Given the description of an element on the screen output the (x, y) to click on. 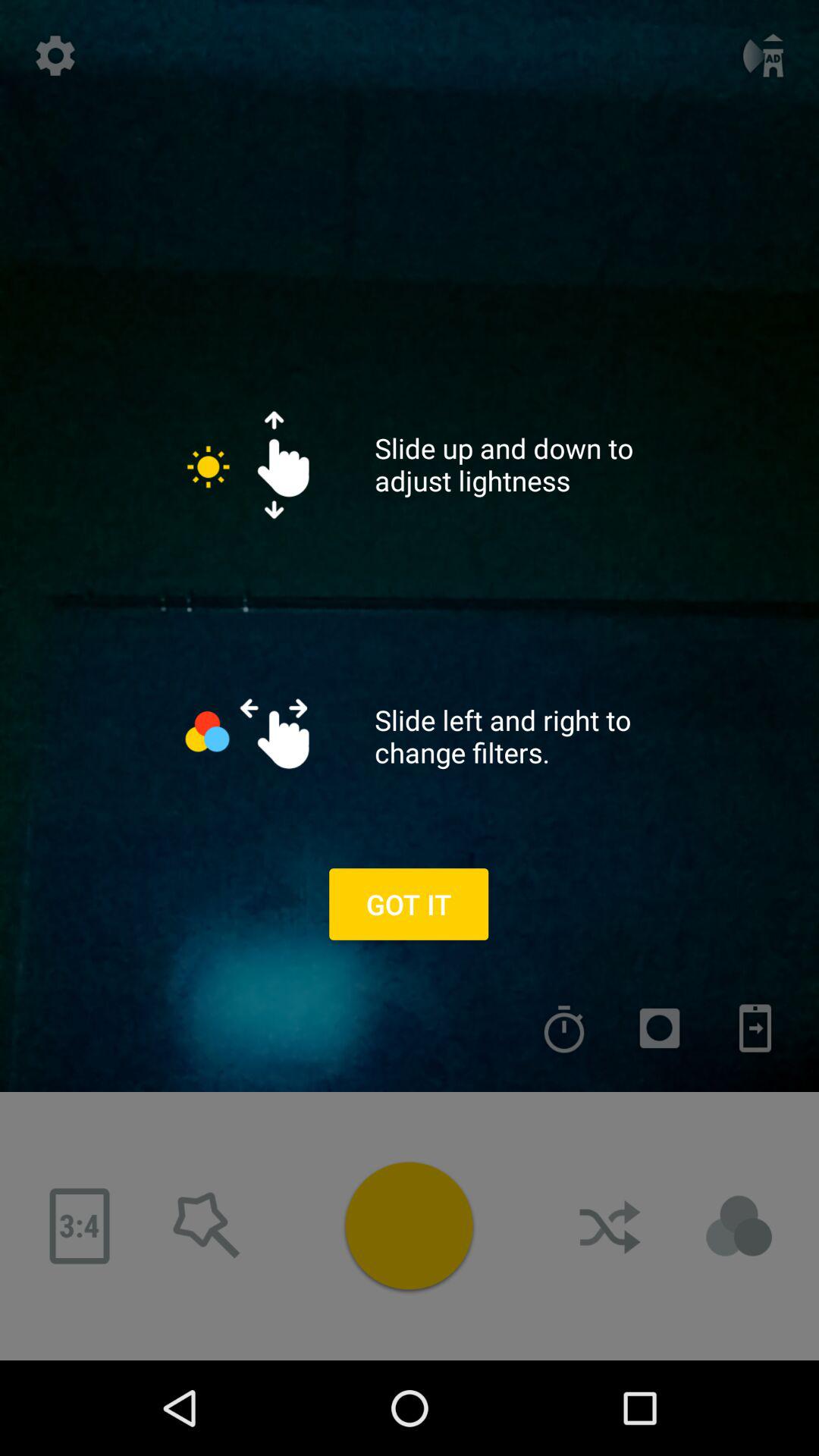
forword (755, 1028)
